Given the description of an element on the screen output the (x, y) to click on. 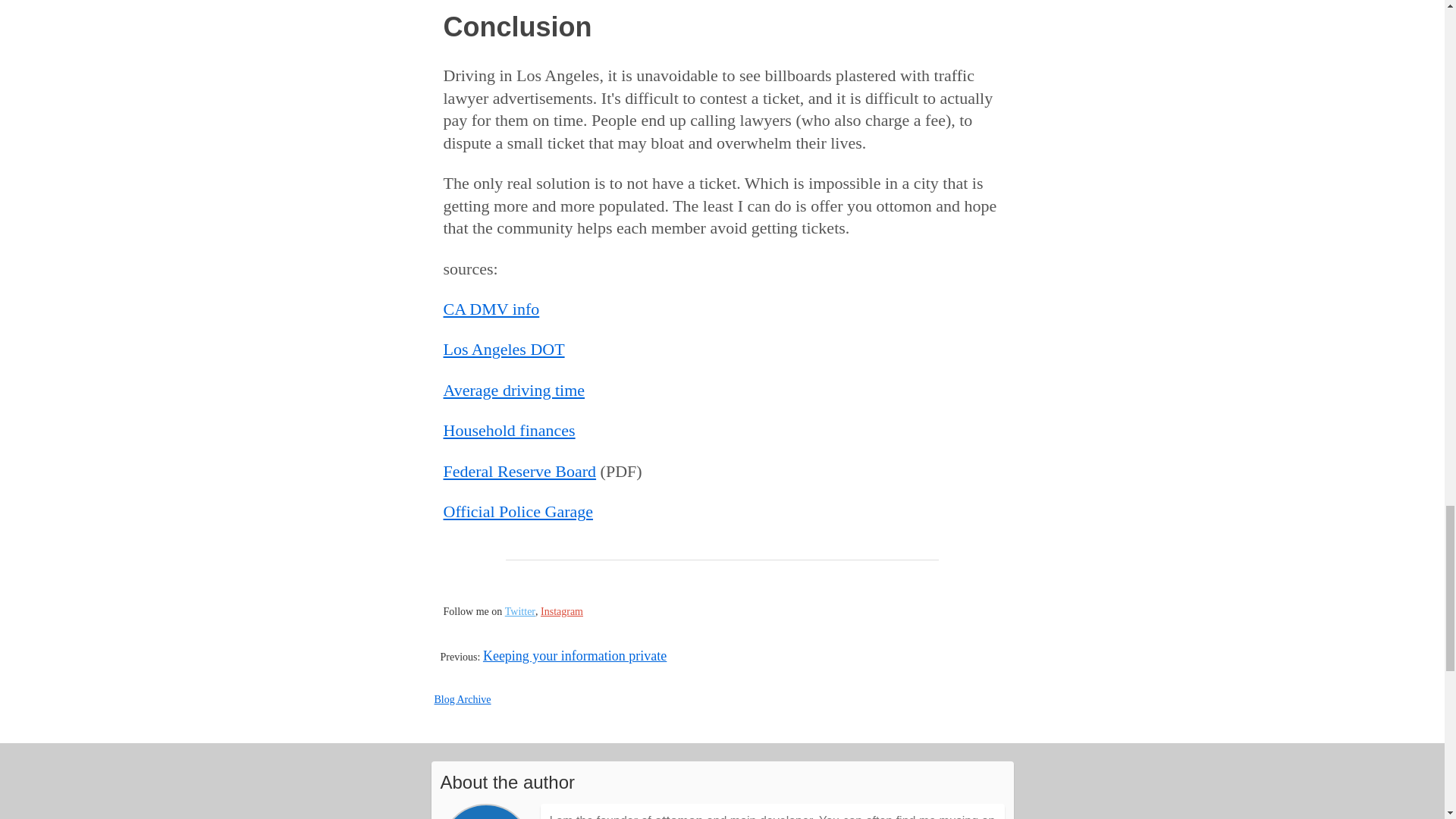
Twitter (520, 611)
Keeping your information private (574, 655)
Instagram (561, 611)
Household finances (508, 429)
Official Police Garage (517, 511)
Los Angeles DOT (503, 348)
Federal Reserve Board (518, 470)
Blog Archive (461, 699)
Average driving time (513, 389)
CA DMV info (490, 308)
